Given the description of an element on the screen output the (x, y) to click on. 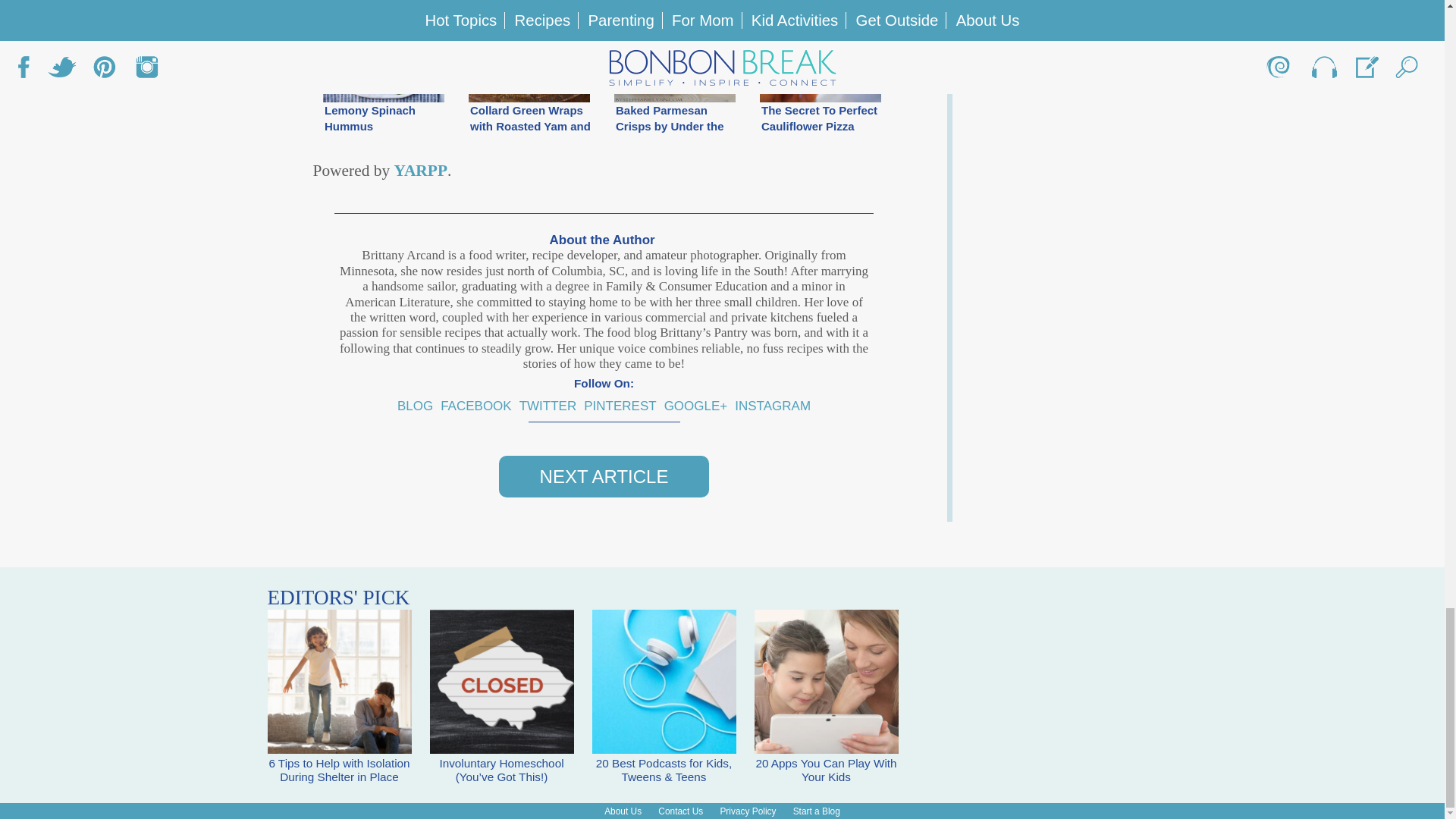
Baked Parmesan Crisps by Under the Table and Dreaming (674, 70)
Baked Parmesan Crisps by Under the Table and Dreaming (674, 70)
FACEBOOK (476, 405)
PINTEREST (619, 405)
YARPP (419, 170)
Lemony Spinach Hummus (383, 70)
WordPress Related Posts (419, 170)
BLOG (414, 405)
Lemony Spinach Hummus (383, 70)
TWITTER (547, 405)
